Given the description of an element on the screen output the (x, y) to click on. 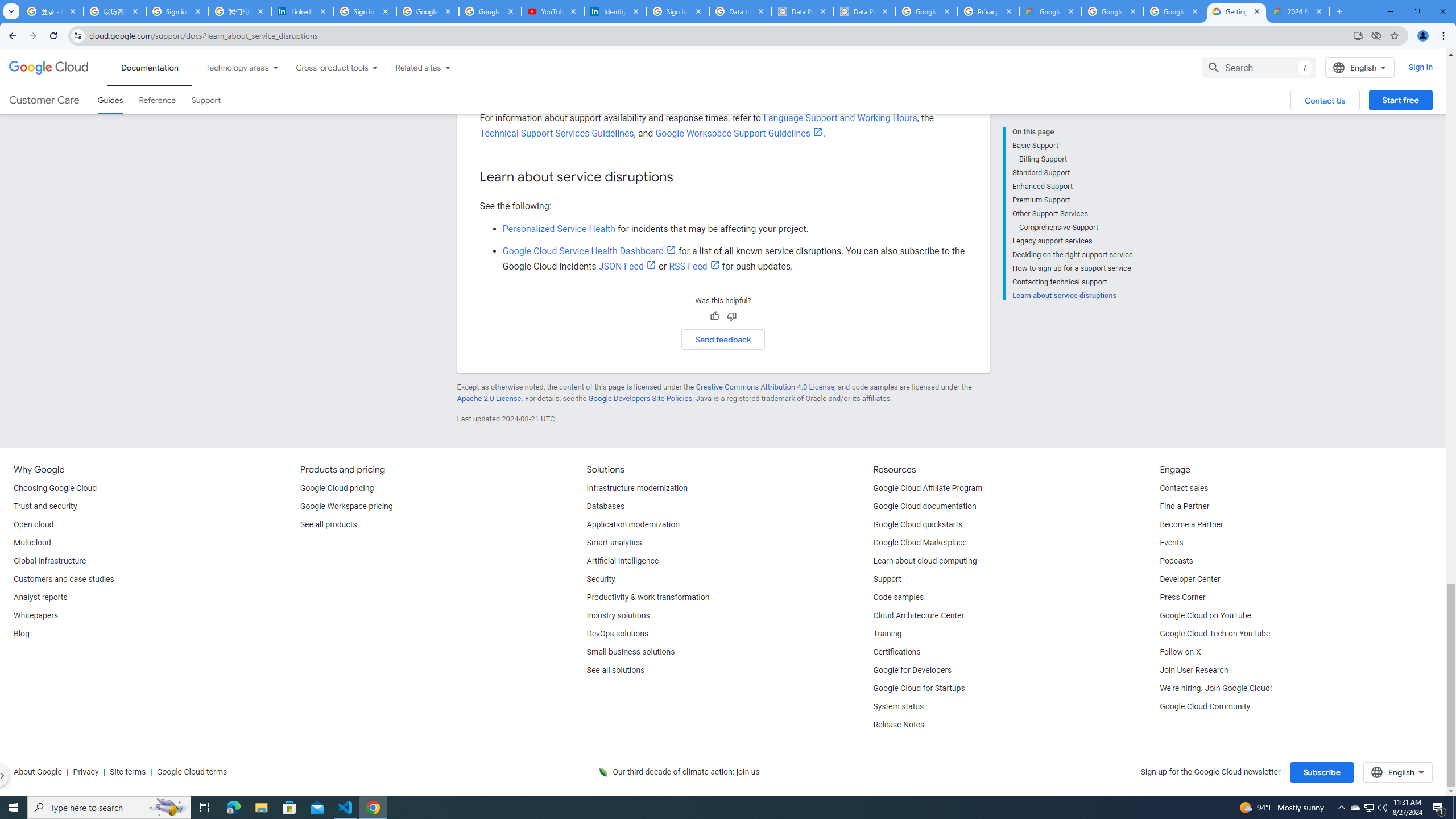
Data Privacy Framework (802, 11)
Whitepapers (35, 615)
English (1397, 772)
Google Workspace - Specific Terms (1174, 11)
Trust and security (45, 506)
Support (887, 579)
Infrastructure modernization (637, 488)
Premium Support (1071, 200)
Choosing Google Cloud (55, 488)
Google Cloud documentation (924, 506)
Technical Support Services Guidelines (556, 132)
Google Cloud Marketplace (919, 542)
